Given the description of an element on the screen output the (x, y) to click on. 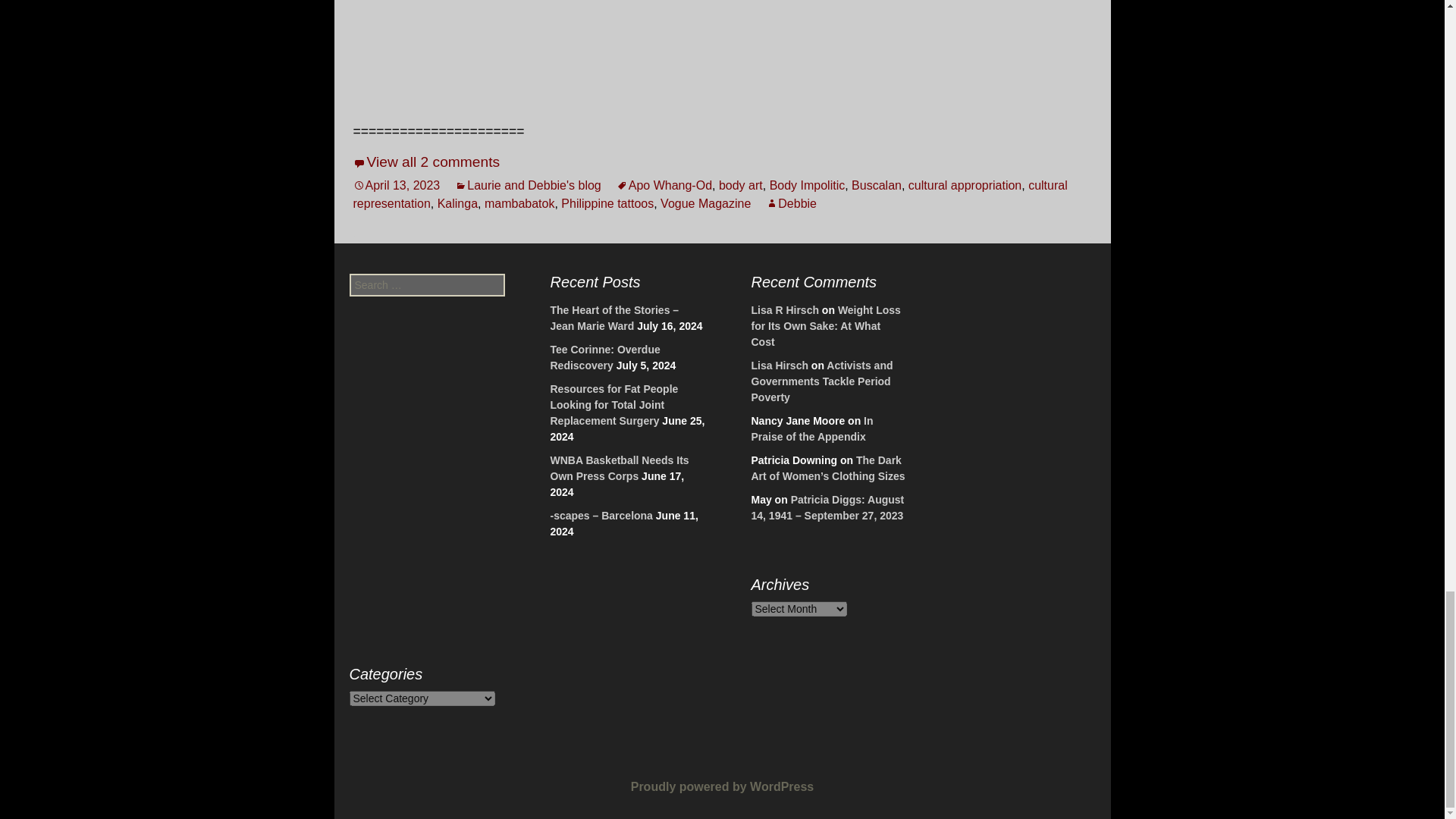
cultural representation (710, 194)
Apo Whang-Od (663, 185)
mambabatok (519, 203)
Philippine tattoos (606, 203)
View all 2 comments (426, 161)
View all posts by Debbie (790, 203)
Body Impolitic (807, 185)
Kalinga (457, 203)
Laurie and Debbie's blog (527, 185)
Buscalan (876, 185)
body art (740, 185)
April 13, 2023 (397, 185)
cultural appropriation (965, 185)
